Given the description of an element on the screen output the (x, y) to click on. 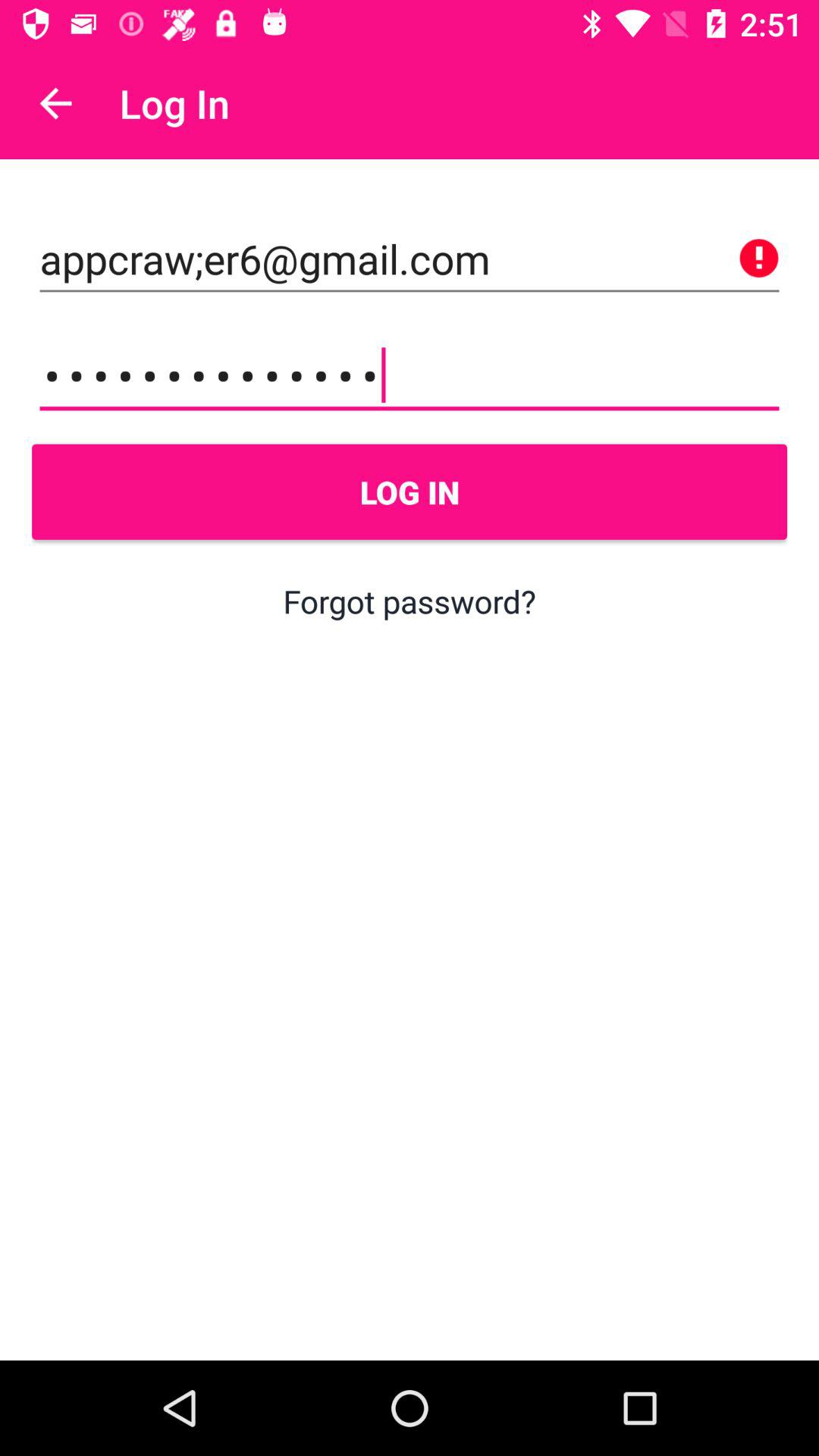
launch icon next to log in (55, 103)
